Given the description of an element on the screen output the (x, y) to click on. 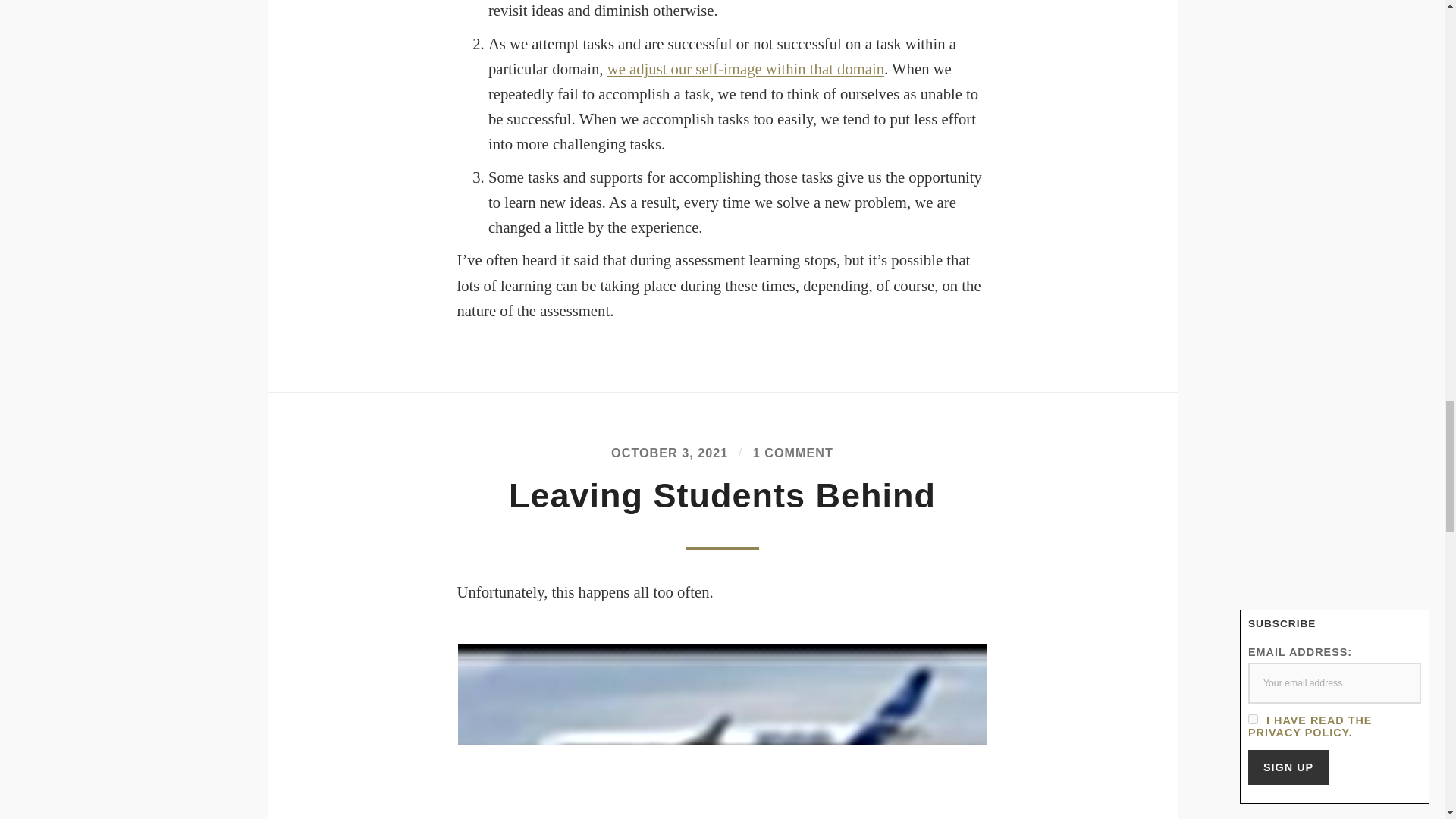
OCTOBER 3, 2021 (669, 452)
we adjust our self-image within that domain (745, 68)
1 COMMENT (792, 452)
Leaving Students Behind (722, 495)
